Given the description of an element on the screen output the (x, y) to click on. 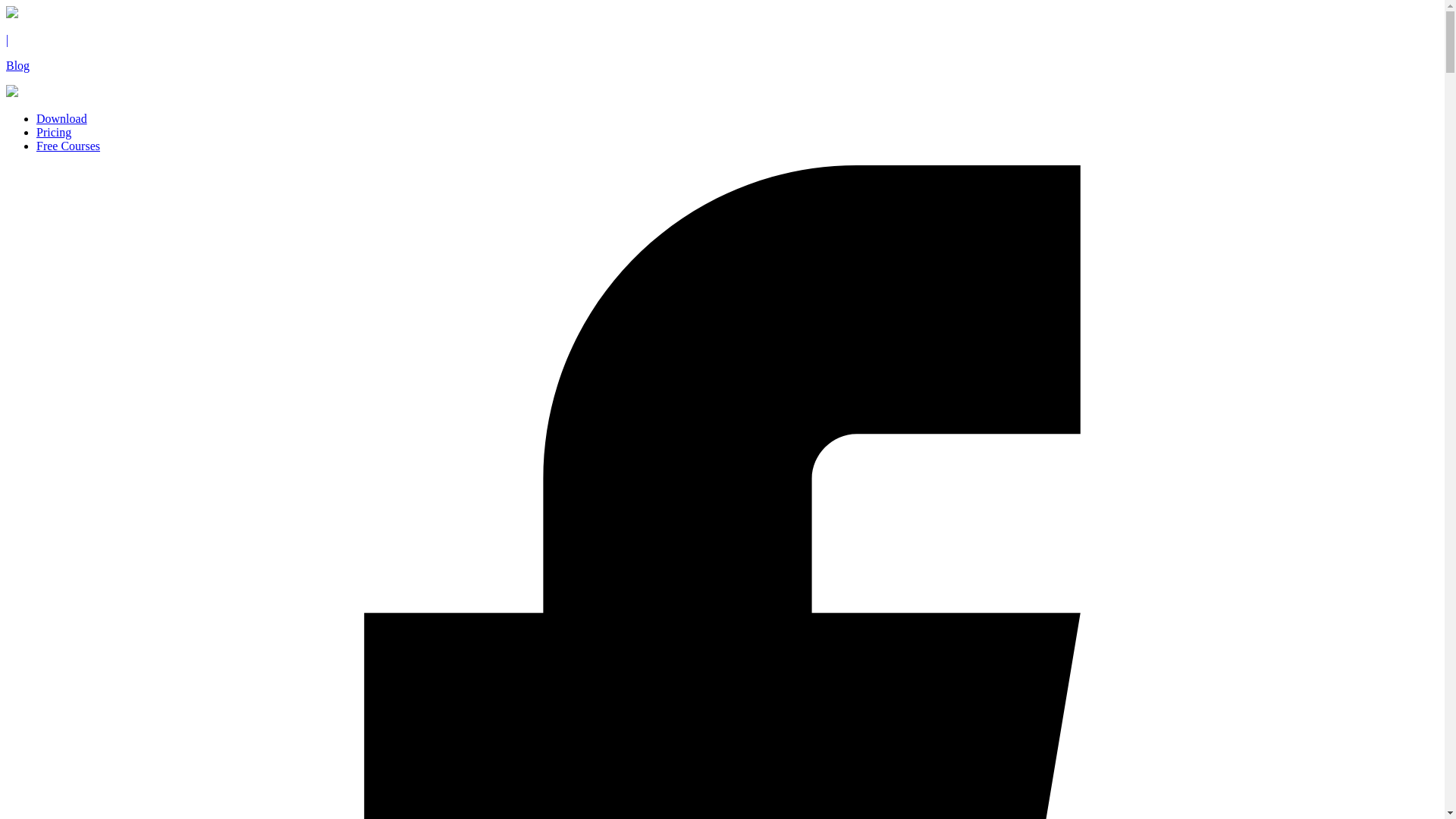
Free Courses (68, 145)
Download (61, 118)
Pricing (53, 132)
